Given the description of an element on the screen output the (x, y) to click on. 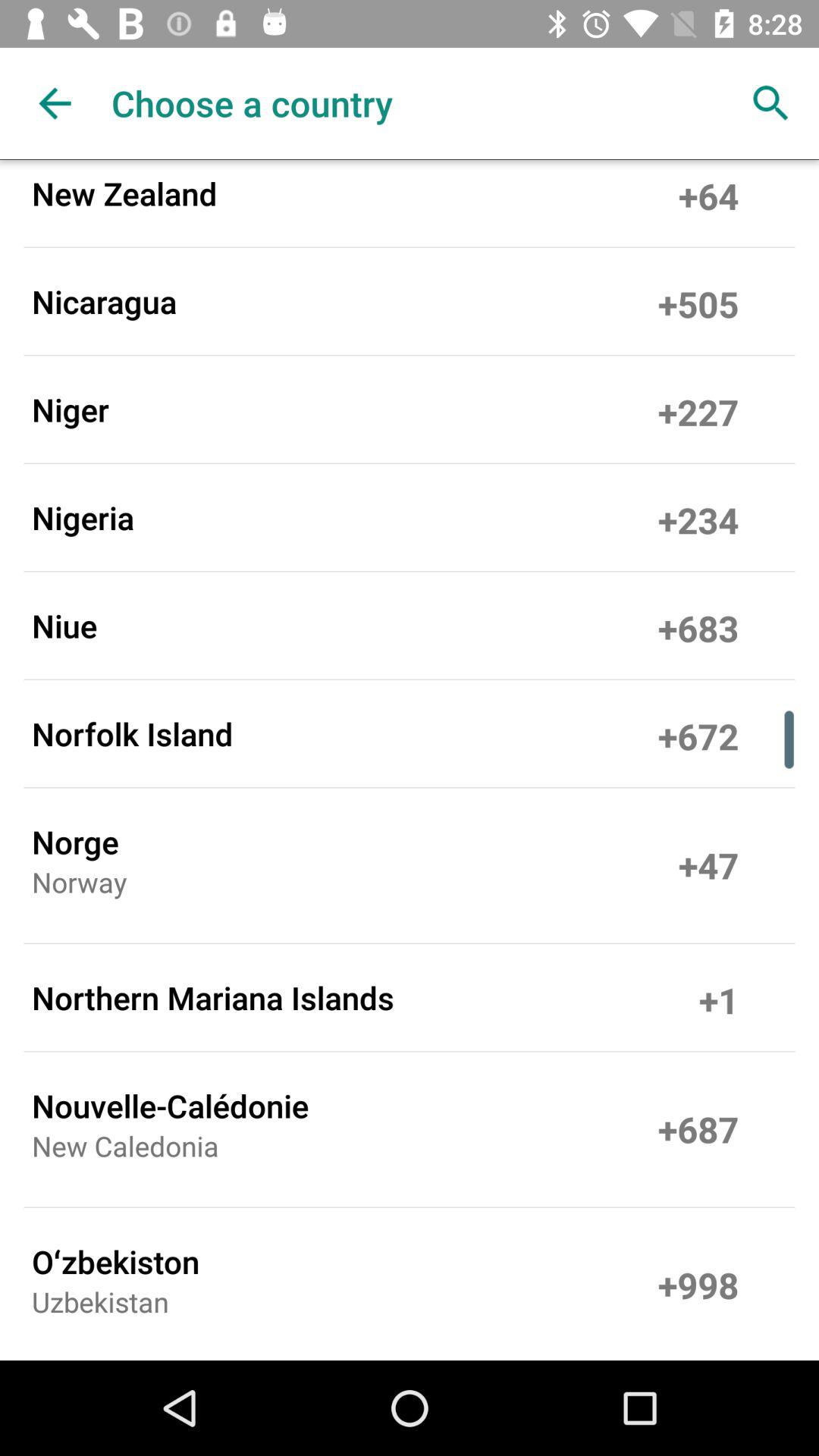
press new zealand icon (124, 192)
